Given the description of an element on the screen output the (x, y) to click on. 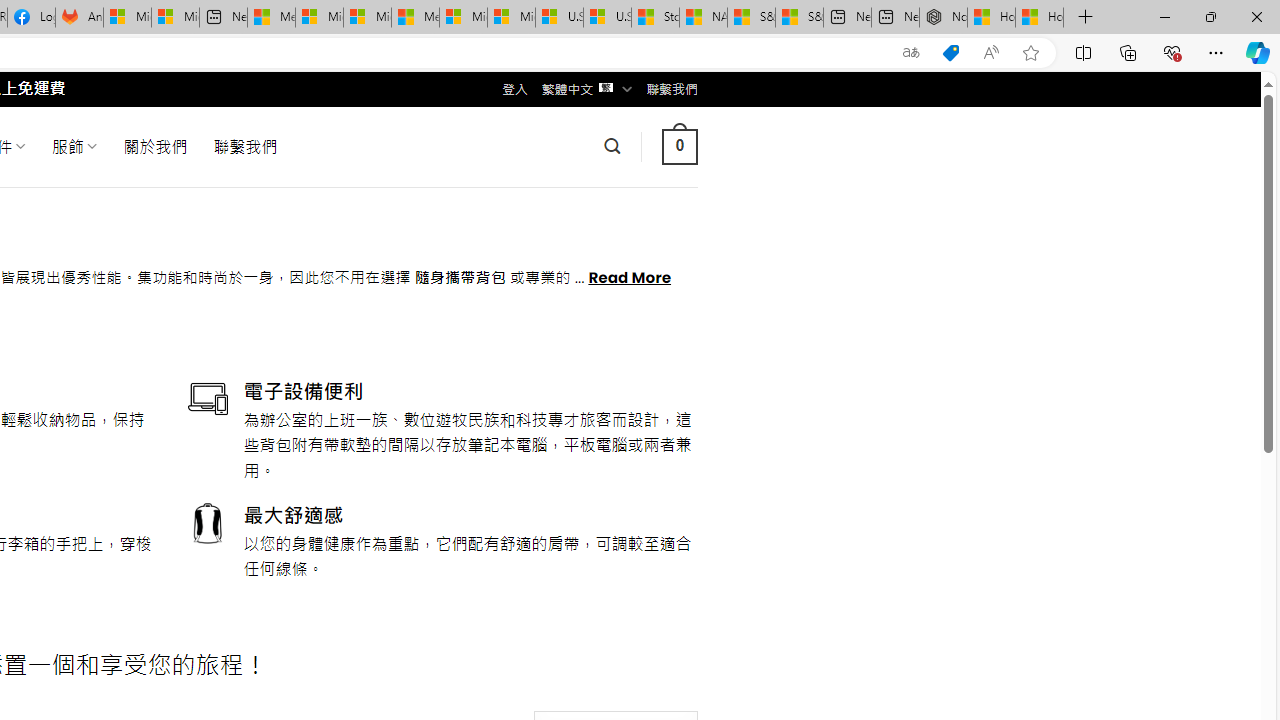
Show translate options (910, 53)
 0  (679, 146)
This site has coupons! Shopping in Microsoft Edge (950, 53)
